Given the description of an element on the screen output the (x, y) to click on. 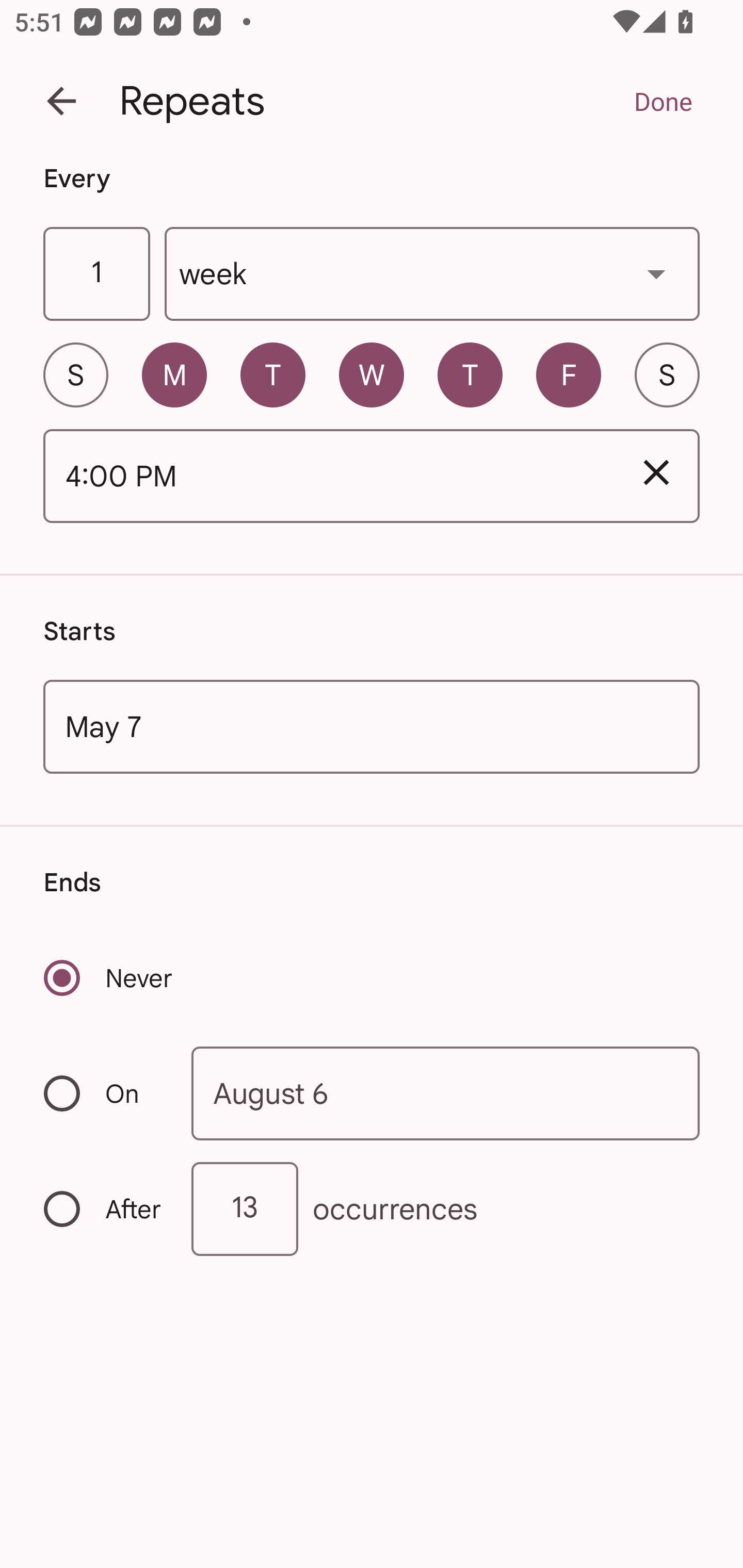
Back (61, 101)
Done (663, 101)
1 (96, 274)
week (431, 274)
Show dropdown menu (655, 273)
S Sunday (75, 374)
M Monday, selected (173, 374)
T Tuesday, selected (272, 374)
W Wednesday, selected (371, 374)
T Thursday, selected (469, 374)
F Friday, selected (568, 374)
S Saturday (666, 374)
4:00 PM (327, 476)
Remove 4:00 PM (655, 472)
May 7 (371, 726)
Never Recurrence never ends (109, 978)
August 6 (445, 1092)
On Recurrence ends on a specific date (104, 1093)
13 (244, 1208)
